Given the description of an element on the screen output the (x, y) to click on. 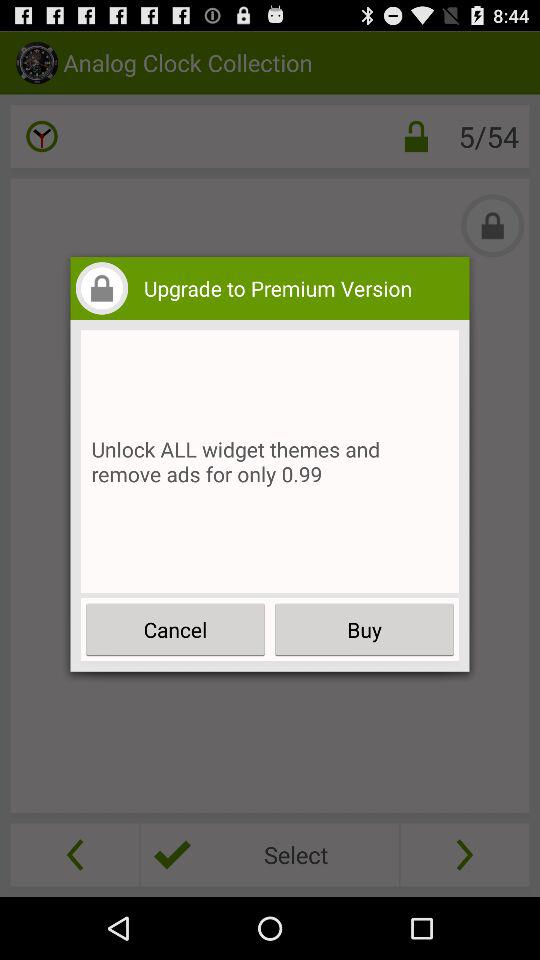
turn on the item to the right of the cancel icon (364, 629)
